Given the description of an element on the screen output the (x, y) to click on. 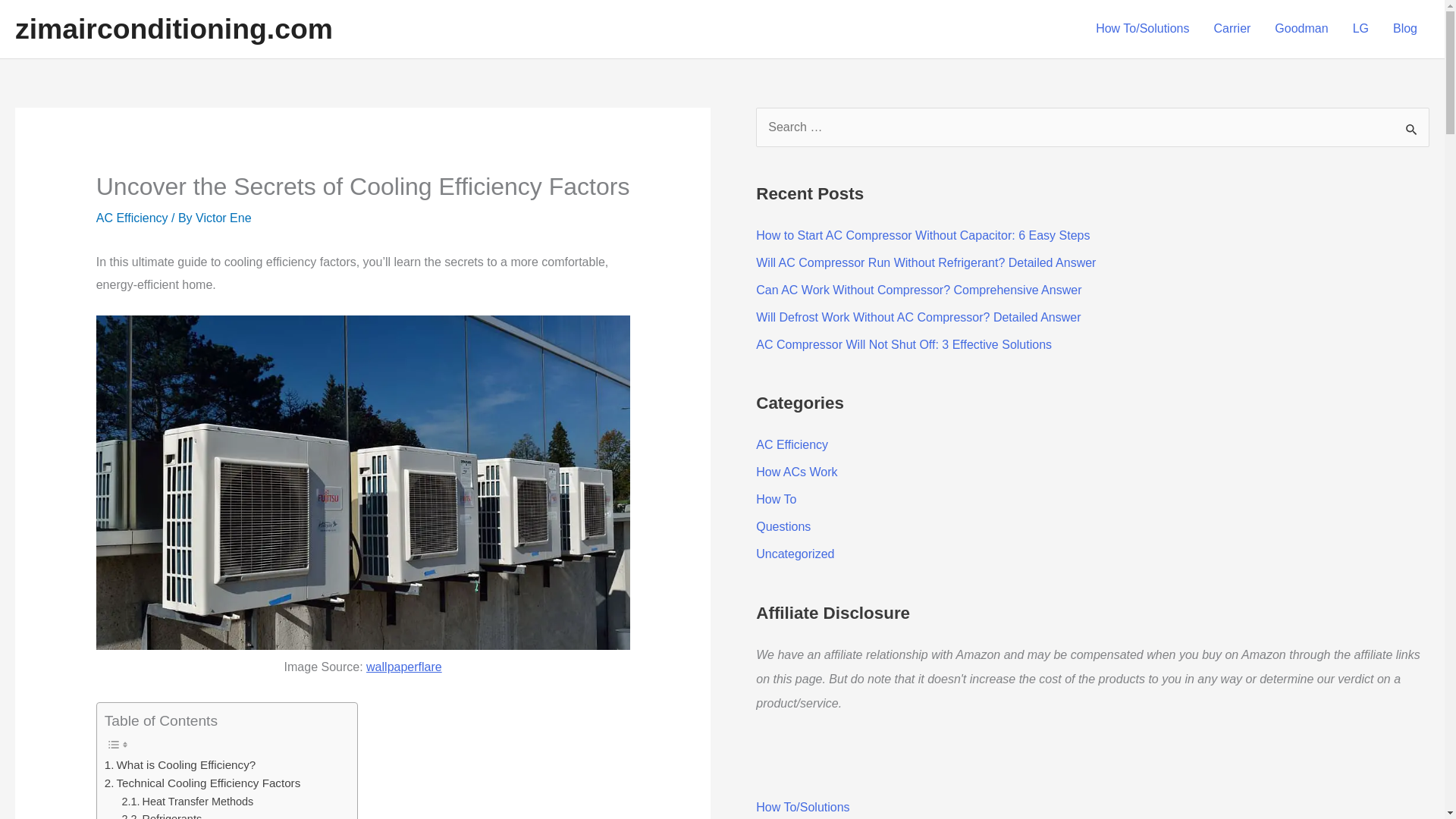
AC Efficiency (132, 217)
Heat Transfer Methods (187, 801)
What is Cooling Efficiency? (180, 764)
Refrigerants (162, 814)
Carrier (1231, 28)
What is Cooling Efficiency? (180, 764)
View all posts by Victor Ene (223, 217)
Goodman (1300, 28)
Technical Cooling Efficiency Factors (202, 782)
